Given the description of an element on the screen output the (x, y) to click on. 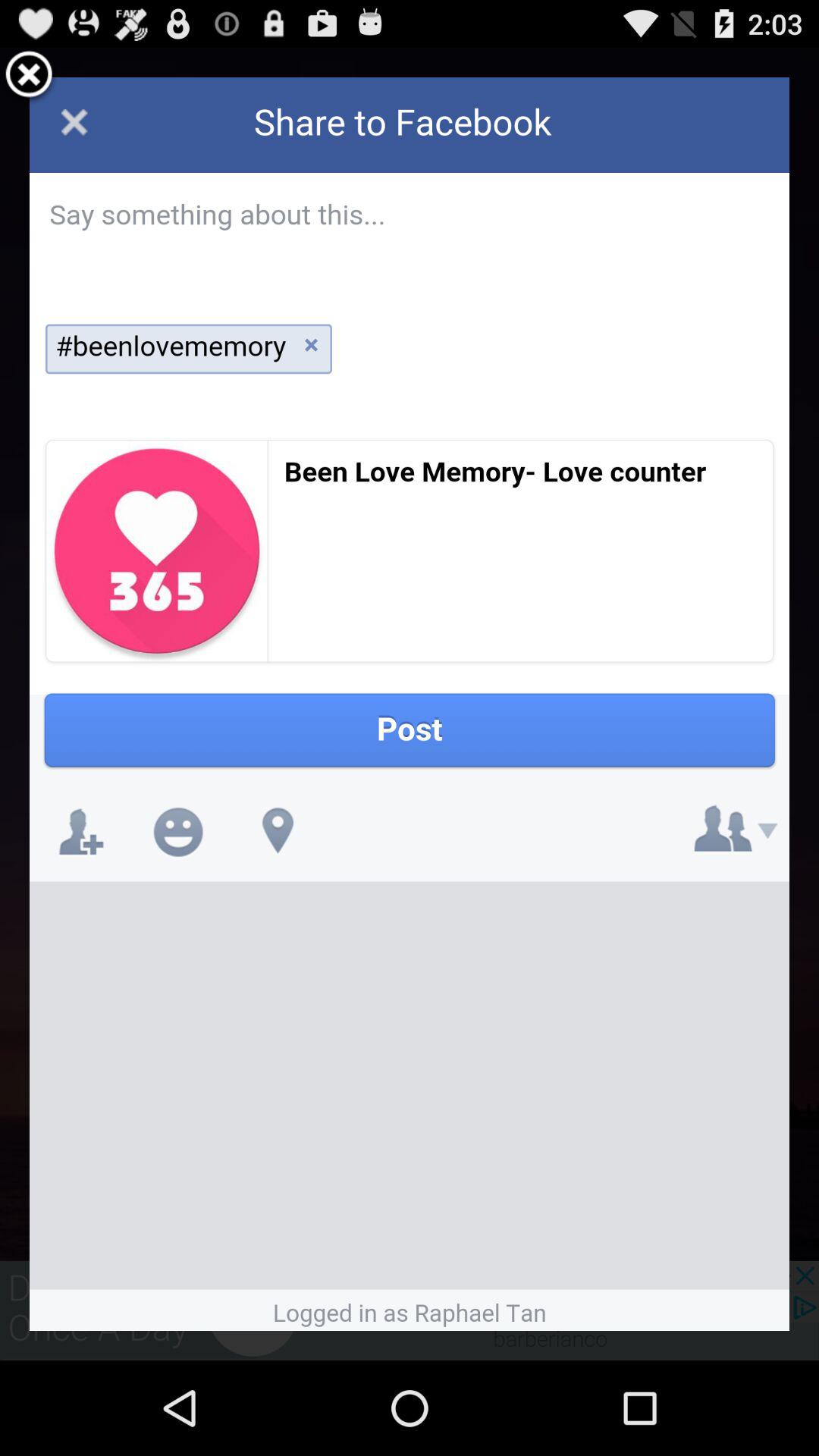
exit share window (29, 76)
